Given the description of an element on the screen output the (x, y) to click on. 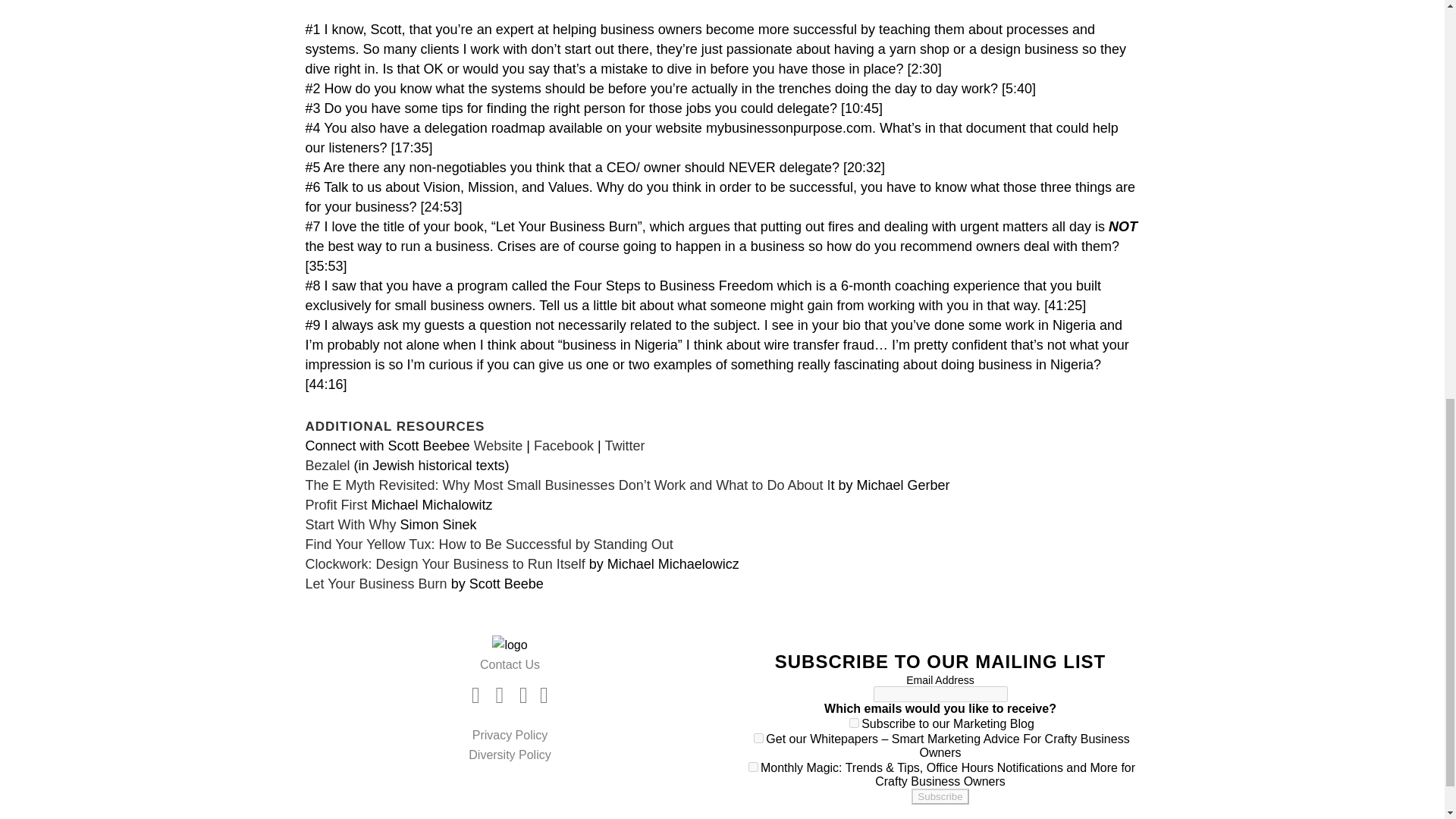
4 (753, 767)
2 (758, 737)
Subscribe (939, 796)
1 (853, 723)
Website (498, 445)
